Given the description of an element on the screen output the (x, y) to click on. 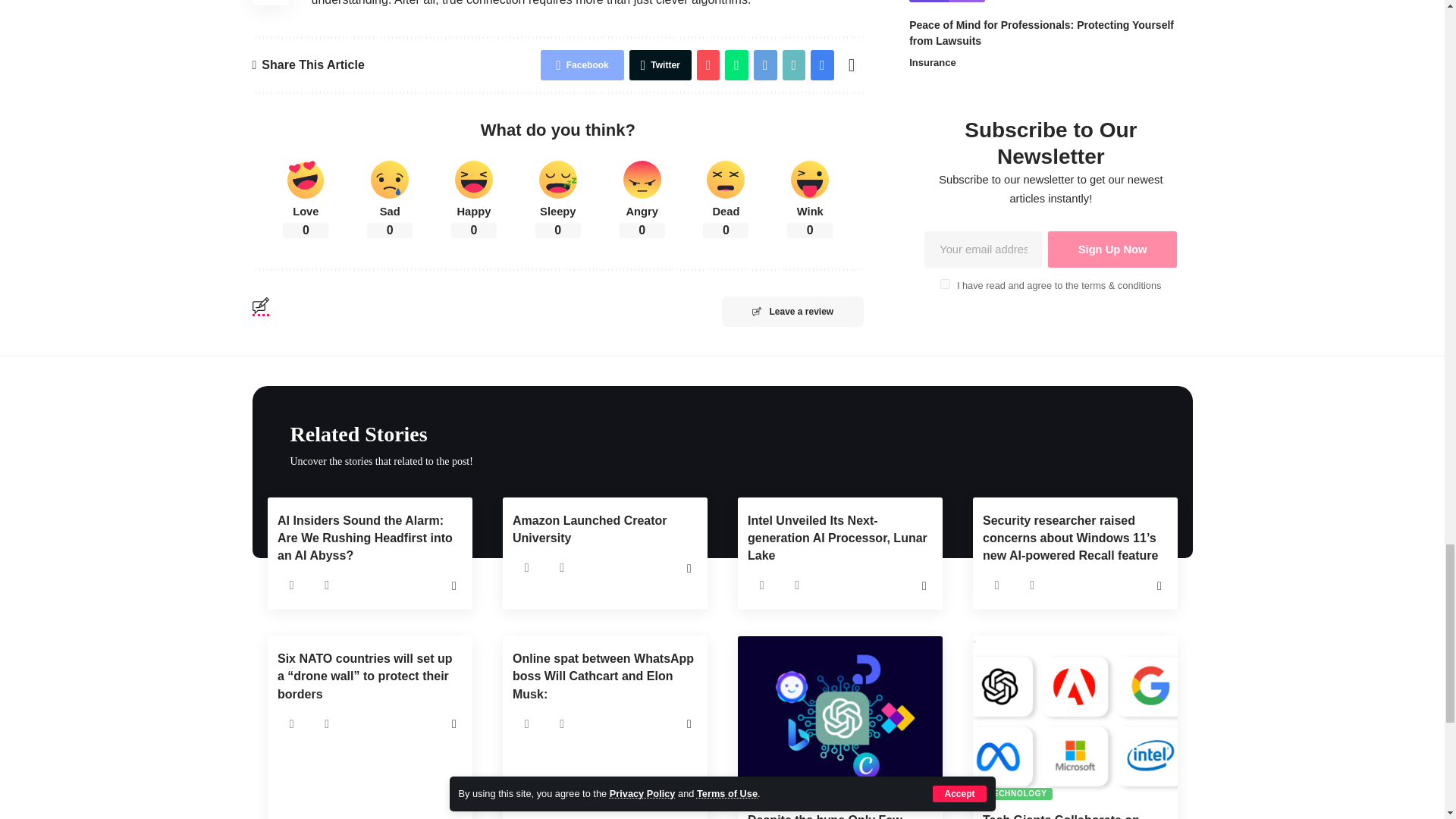
Despite the hype Only Few People are using ChatGPT (839, 718)
Tech Giants Collaborate on Next-Gen AI Chip Components (1074, 718)
